Given the description of an element on the screen output the (x, y) to click on. 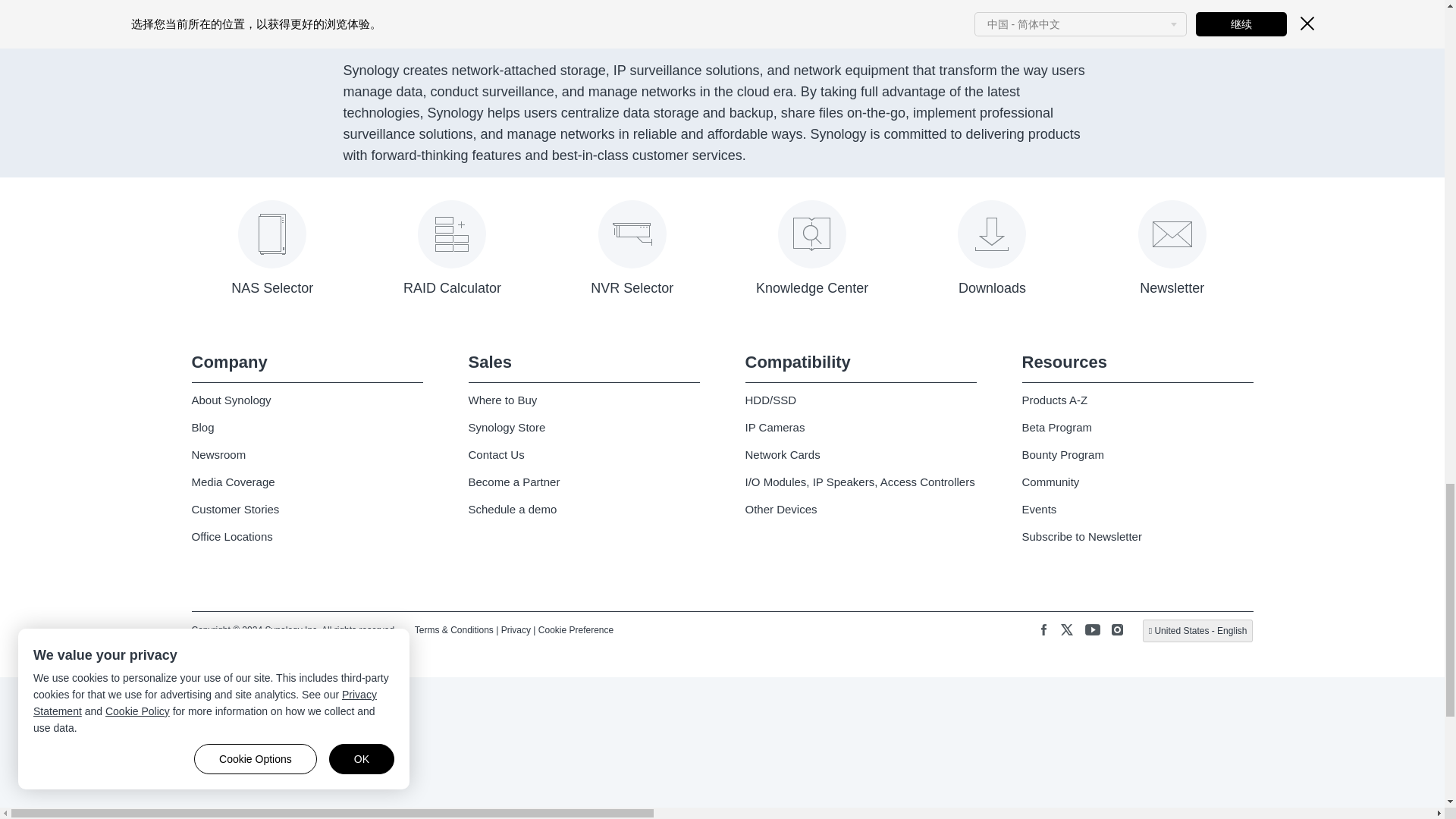
Facebook (1043, 631)
Navigate to RAID Calculator (451, 254)
Privacy (515, 629)
Navigate to Knowledge Center (811, 254)
